Given the description of an element on the screen output the (x, y) to click on. 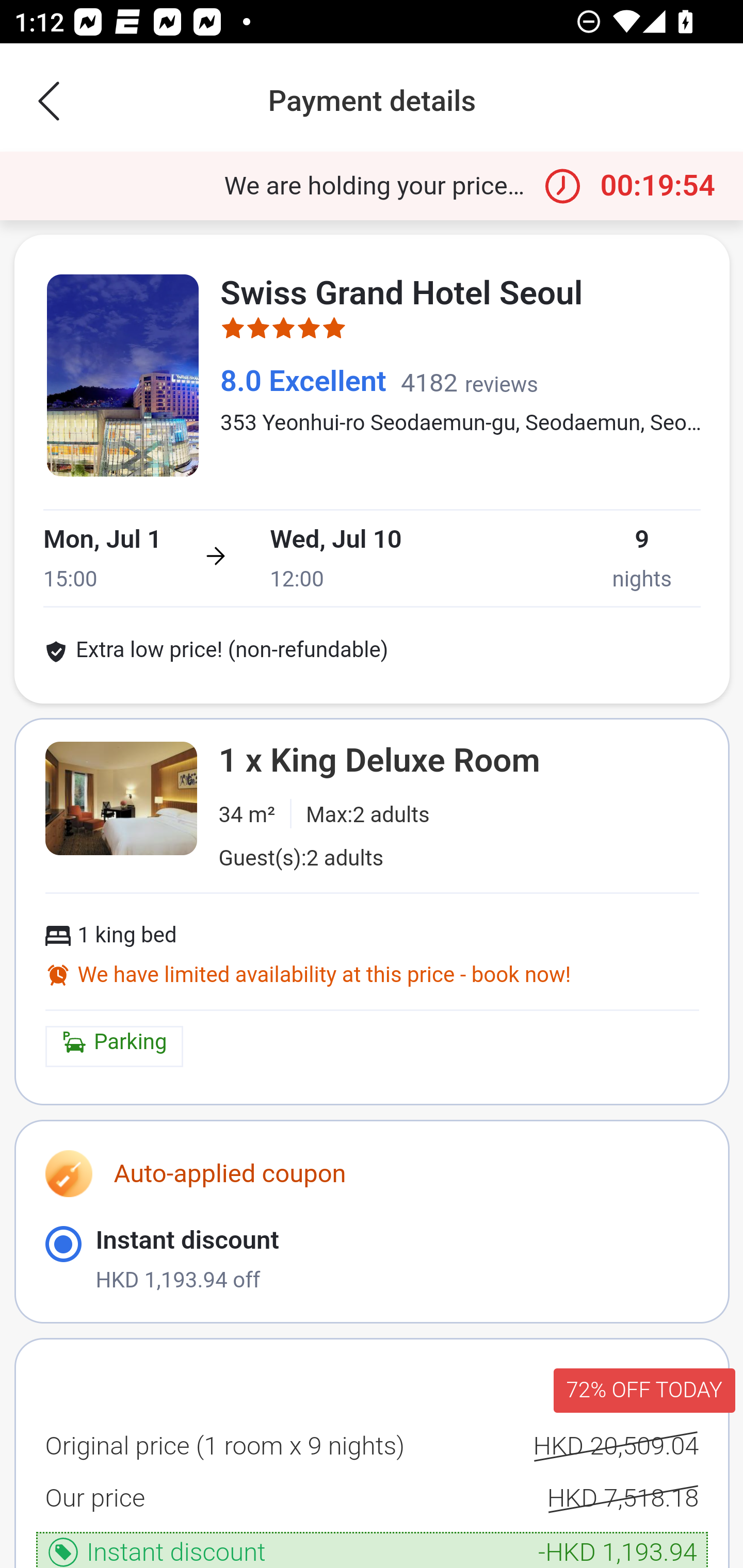
Hotel (122, 376)
5 stars out of 5 (284, 331)
Extra low price! (non-refundable) (216, 653)
Instant discount HKD 1,193.94 off (371, 1259)
